Given the description of an element on the screen output the (x, y) to click on. 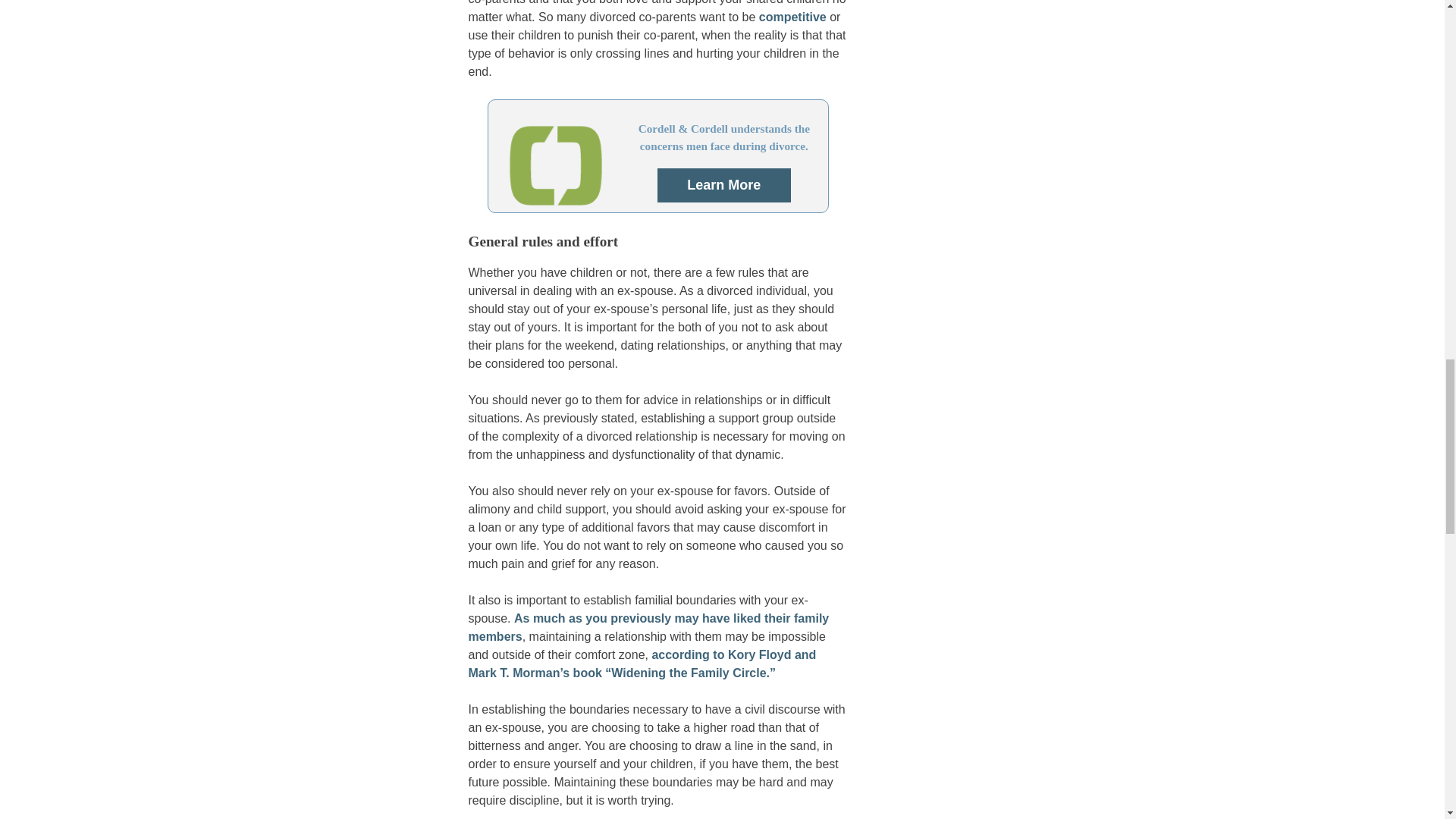
competitive (792, 16)
Learn More (724, 185)
